Given the description of an element on the screen output the (x, y) to click on. 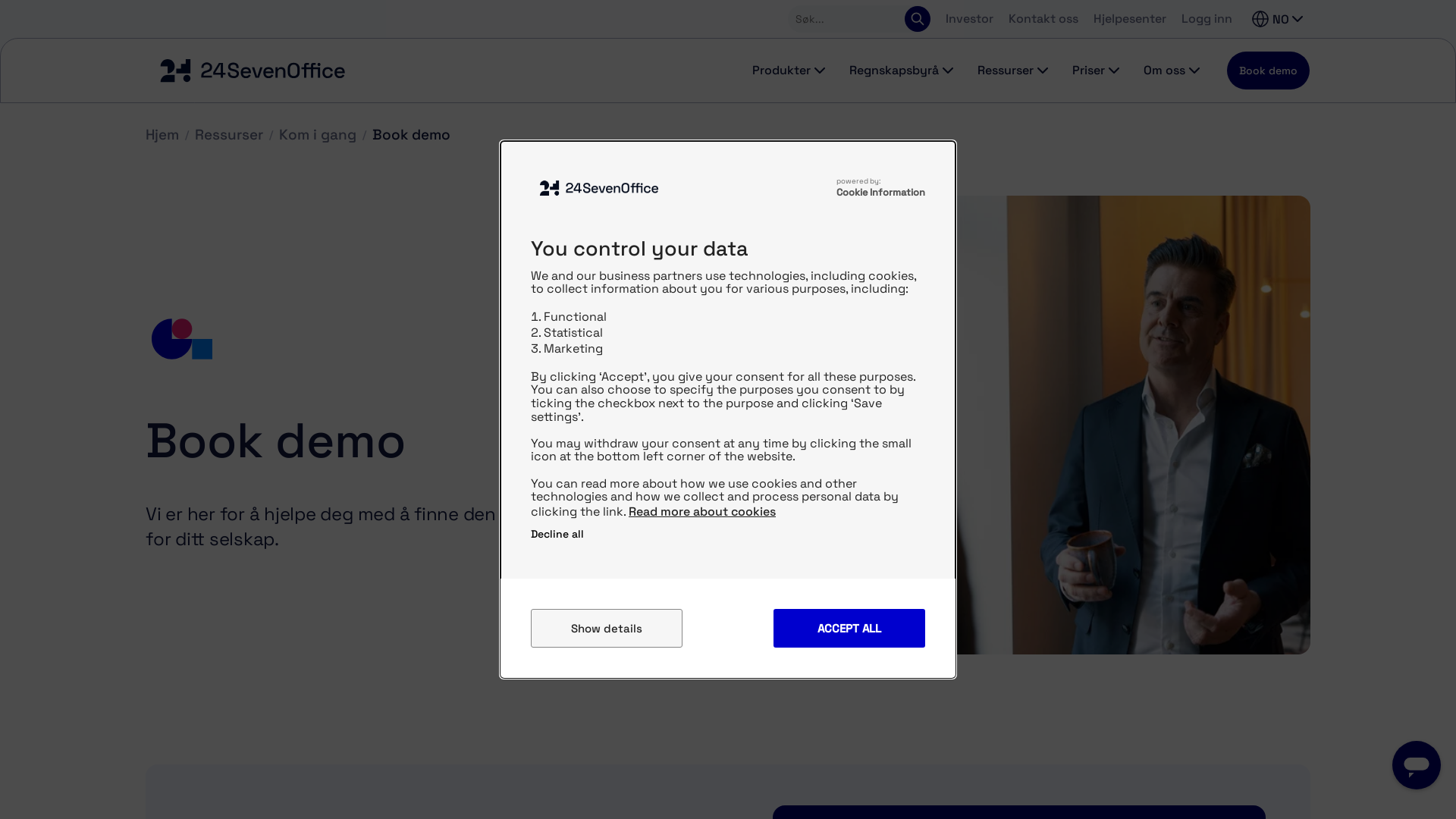
Chat Widget Element type: hover (1416, 767)
Book demo Element type: text (411, 134)
Cookie Information Element type: text (880, 191)
Priser Element type: text (1095, 70)
Hjelpesenter Element type: text (1129, 18)
Investor Element type: text (969, 18)
NO Element type: text (1276, 18)
Logg inn Element type: text (1206, 19)
Ressurser Element type: text (1012, 70)
Read more about cookies Element type: text (701, 511)
Hjem Element type: text (161, 134)
Decline all Element type: text (556, 533)
Ressurser Element type: text (228, 134)
Om oss Element type: text (1171, 70)
Kontakt oss Element type: text (1043, 18)
Book demo Element type: text (1267, 70)
Show details Element type: text (606, 627)
ACCEPT ALL Element type: text (849, 627)
Kom i gang Element type: text (317, 134)
Produkter Element type: text (788, 70)
